Given the description of an element on the screen output the (x, y) to click on. 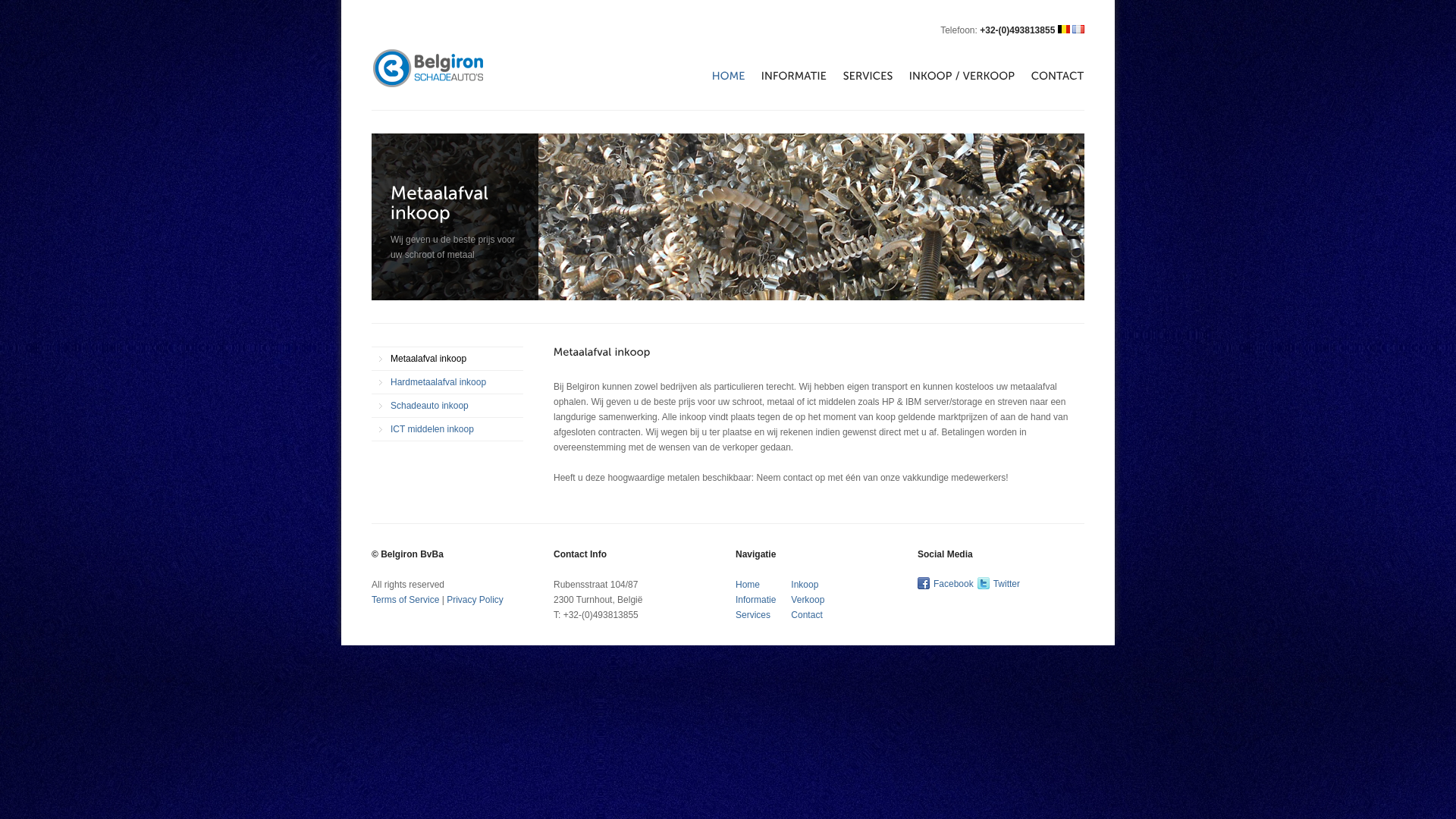
Verkoop Element type: text (807, 599)
Terms of Service Element type: text (405, 599)
Schadeauto inkoop Element type: text (447, 405)
Contact Element type: text (806, 614)
Metaalafval inkoop Element type: text (447, 358)
Hardmetaalafval inkoop Element type: text (447, 381)
Twitter Element type: text (1006, 583)
Home Element type: text (747, 584)
Services Element type: text (752, 614)
Informatie Element type: text (755, 599)
Inkoop Element type: text (804, 584)
ICT middelen inkoop Element type: text (447, 428)
Switch to French Element type: hover (1078, 29)
Back Home Element type: hover (428, 54)
Privacy Policy Element type: text (474, 599)
Switch to Belgium Element type: hover (1063, 29)
Facebook Element type: text (953, 583)
